Given the description of an element on the screen output the (x, y) to click on. 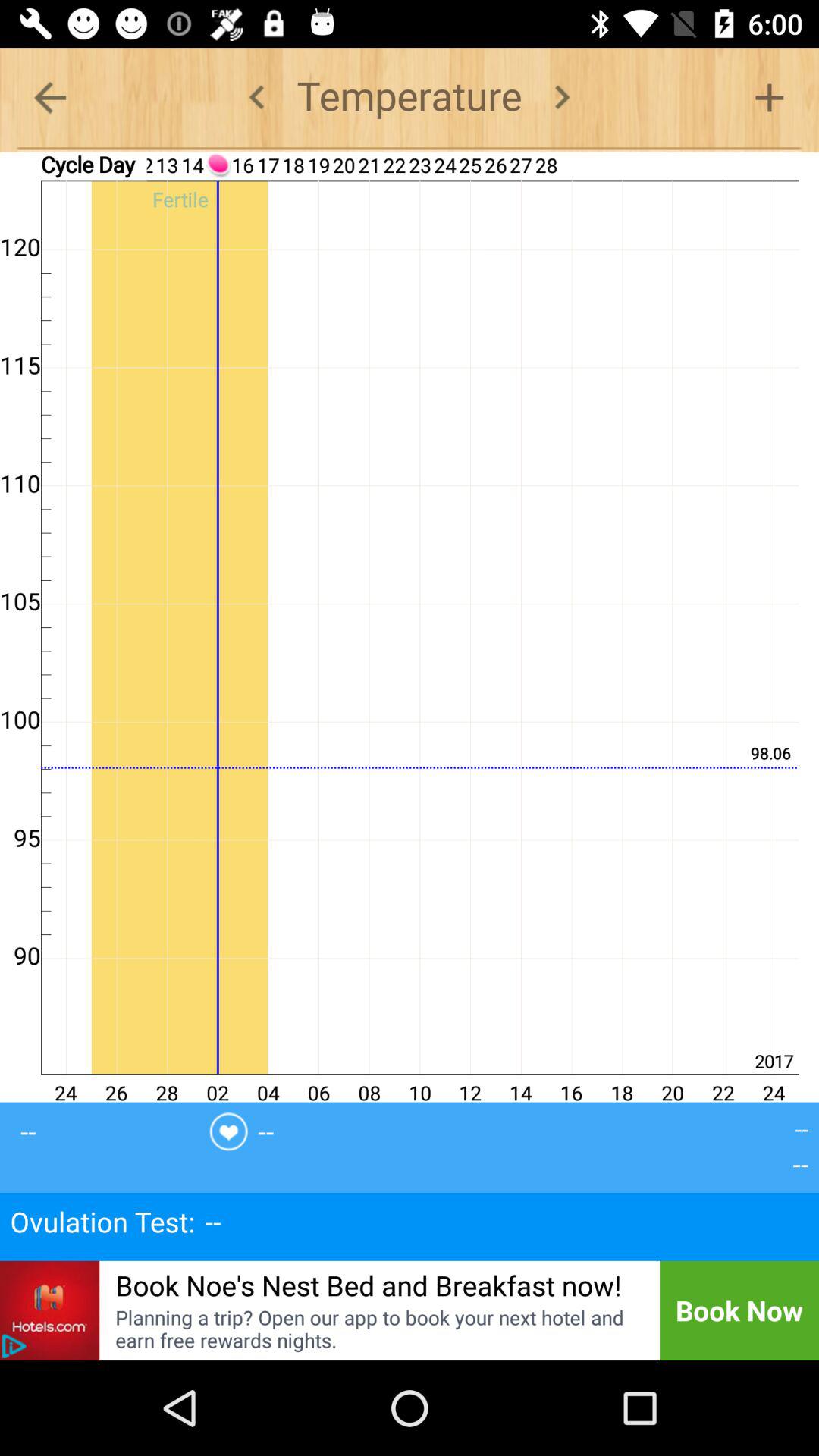
select temperature icon (409, 96)
